Given the description of an element on the screen output the (x, y) to click on. 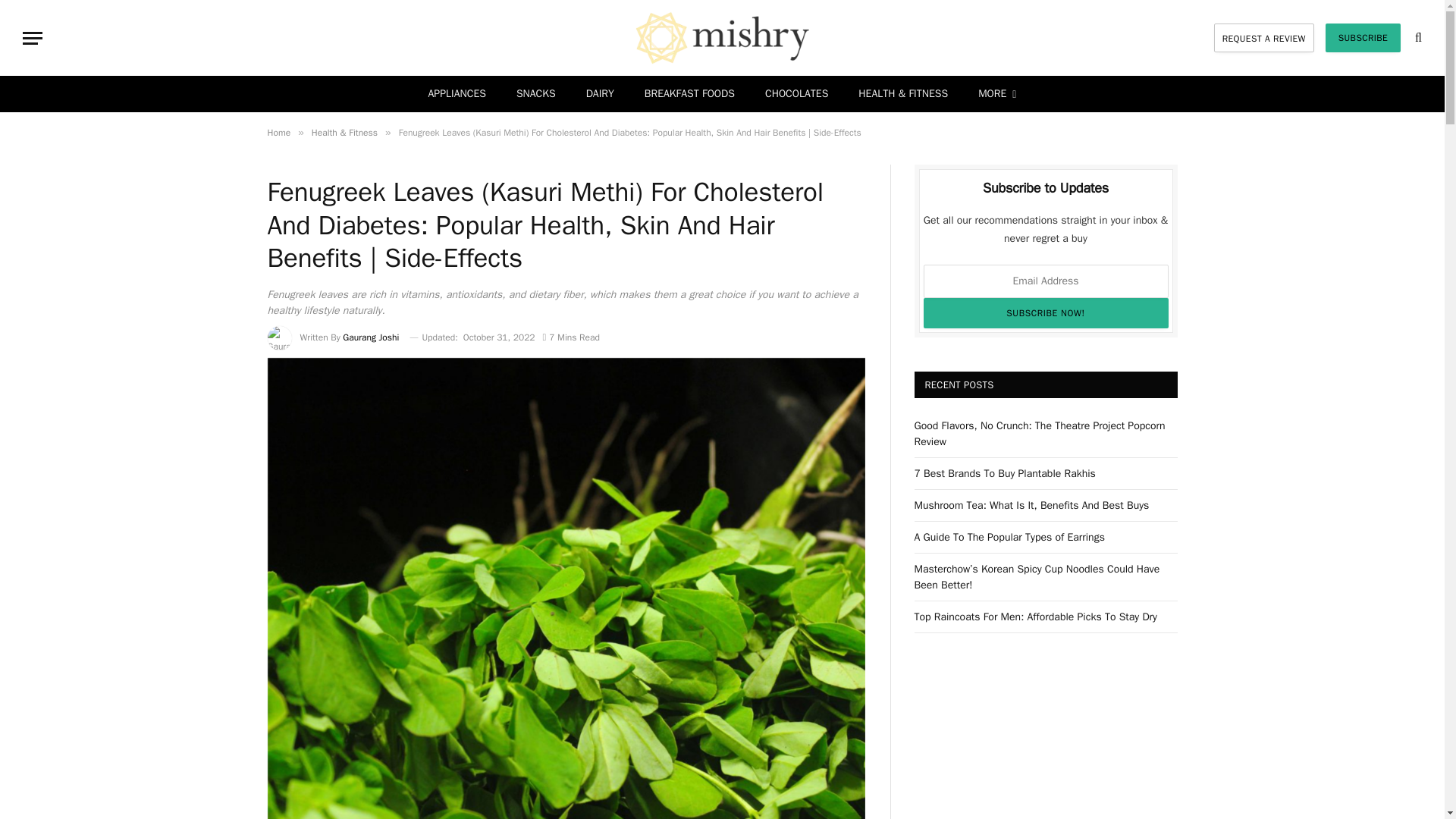
Subscribe Now! (1046, 313)
Mishry  (721, 38)
Posts by Gaurang Joshi (370, 337)
SUBSCRIBE (1362, 37)
REQUEST A REVIEW (1264, 37)
